Given the description of an element on the screen output the (x, y) to click on. 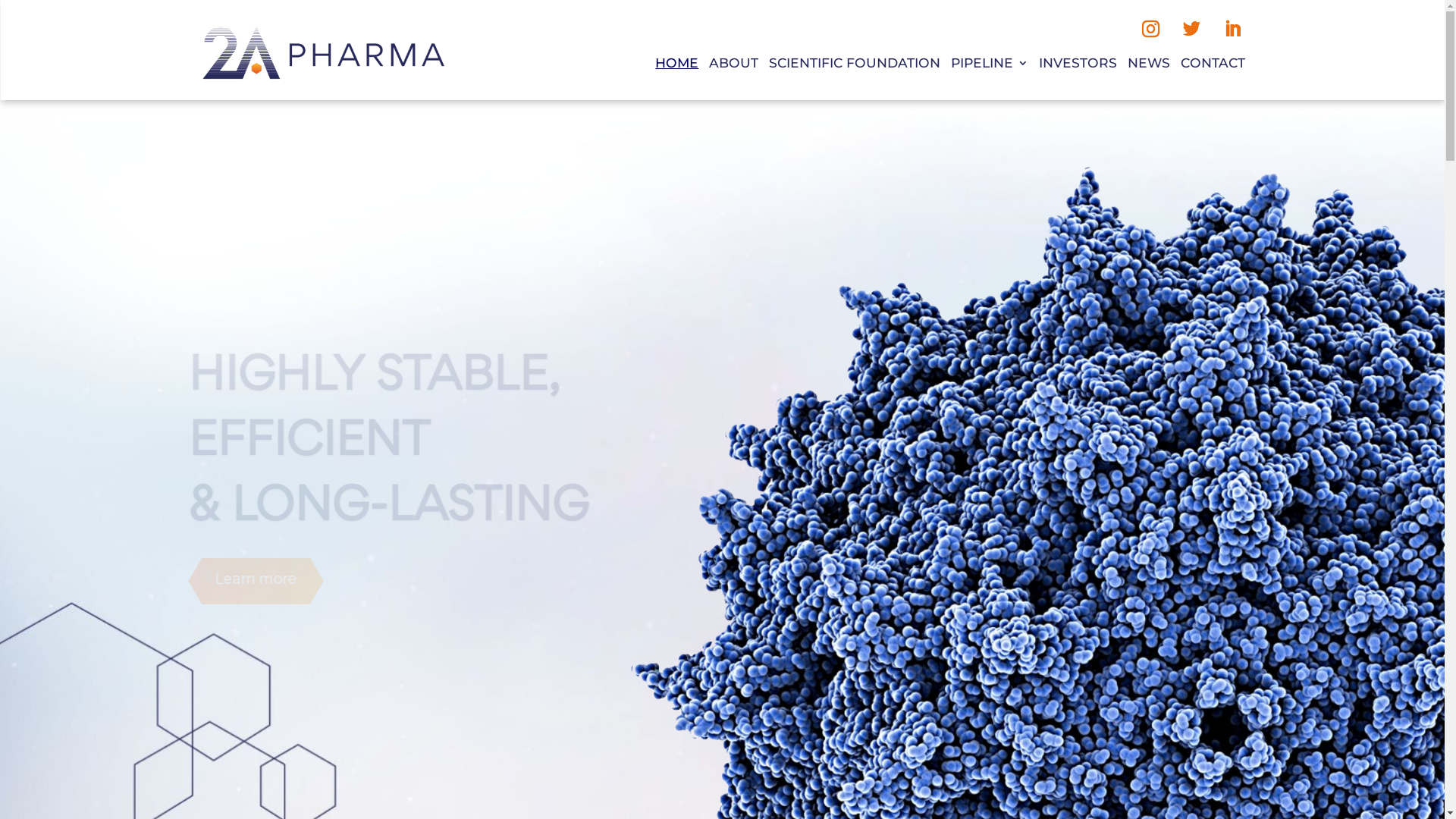
Follow on Instagram Element type: hover (1149, 28)
NEWS Element type: text (1148, 65)
HOME Element type: text (676, 65)
Learn more Element type: text (255, 559)
SCIENTIFIC FOUNDATION Element type: text (854, 65)
1 Element type: text (703, 583)
PIPELINE Element type: text (989, 65)
4 Element type: text (740, 583)
2ALogoWeb Element type: hover (323, 52)
INVESTORS Element type: text (1077, 65)
Follow on LinkedIn Element type: hover (1231, 28)
2 Element type: text (715, 583)
CONTACT Element type: text (1212, 65)
Follow on Twitter Element type: hover (1190, 28)
3 Element type: text (728, 583)
ABOUT Element type: text (733, 65)
